Given the description of an element on the screen output the (x, y) to click on. 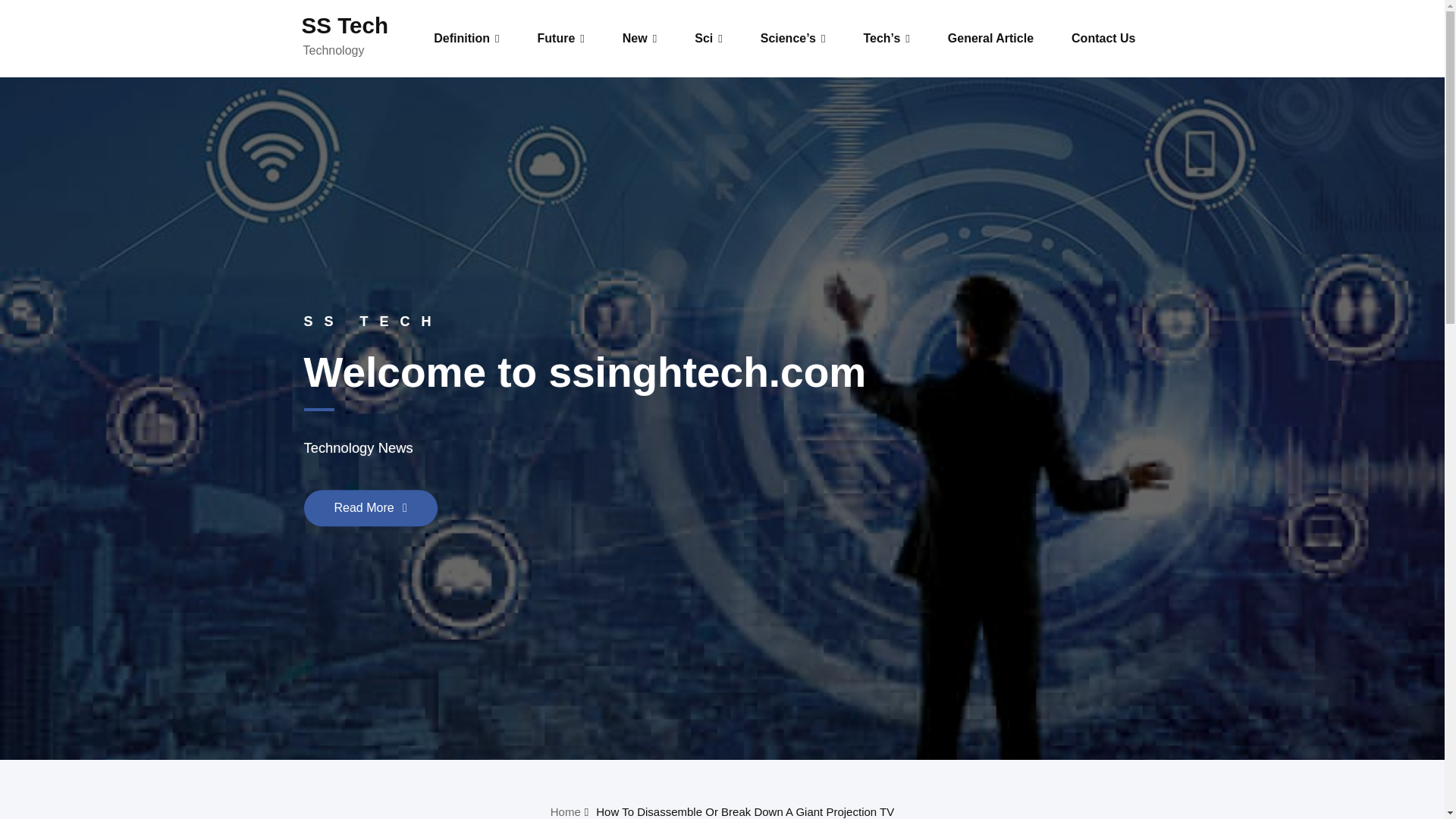
SS Tech (344, 25)
General Article (990, 38)
Home (565, 811)
New (639, 38)
Read More (369, 507)
Definition (466, 38)
Contact Us (1103, 38)
Sci (707, 38)
How To Disassemble Or Break Down A Giant Projection TV (744, 811)
